Given the description of an element on the screen output the (x, y) to click on. 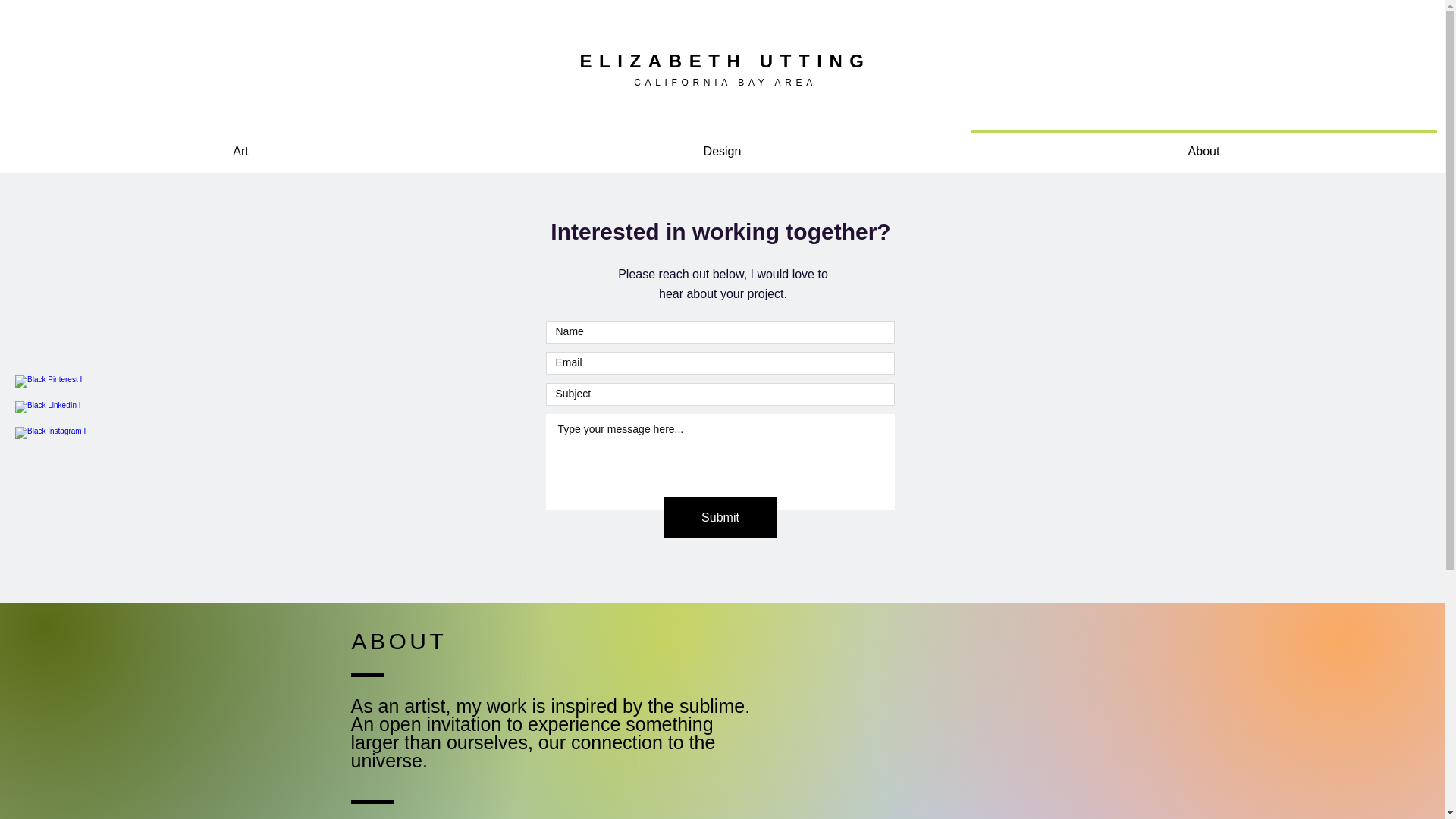
Art (240, 144)
Design (721, 144)
Submit (720, 517)
ELIZABETH UTTING (724, 60)
